Given the description of an element on the screen output the (x, y) to click on. 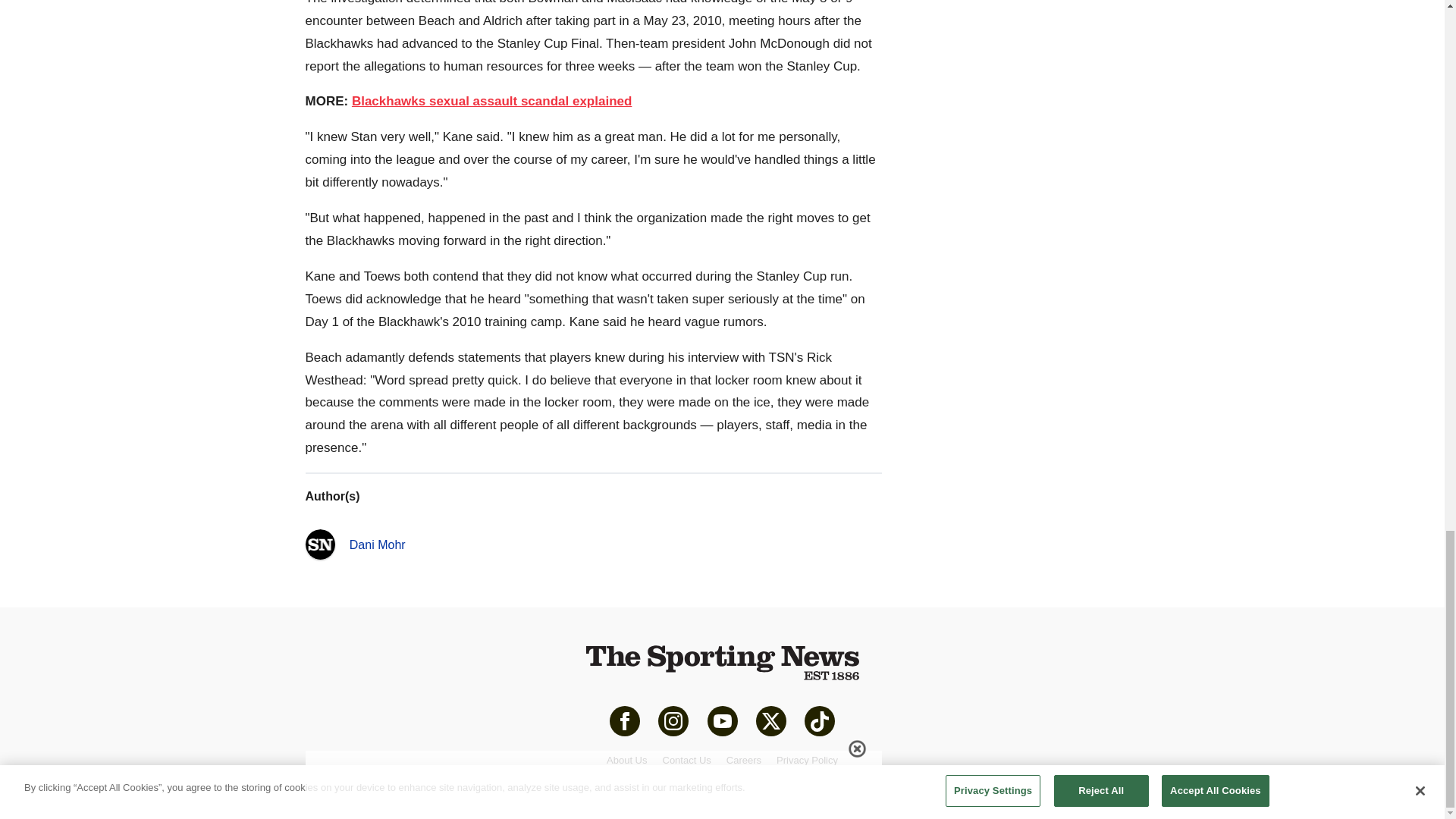
3rd party ad content (1024, 84)
